Given the description of an element on the screen output the (x, y) to click on. 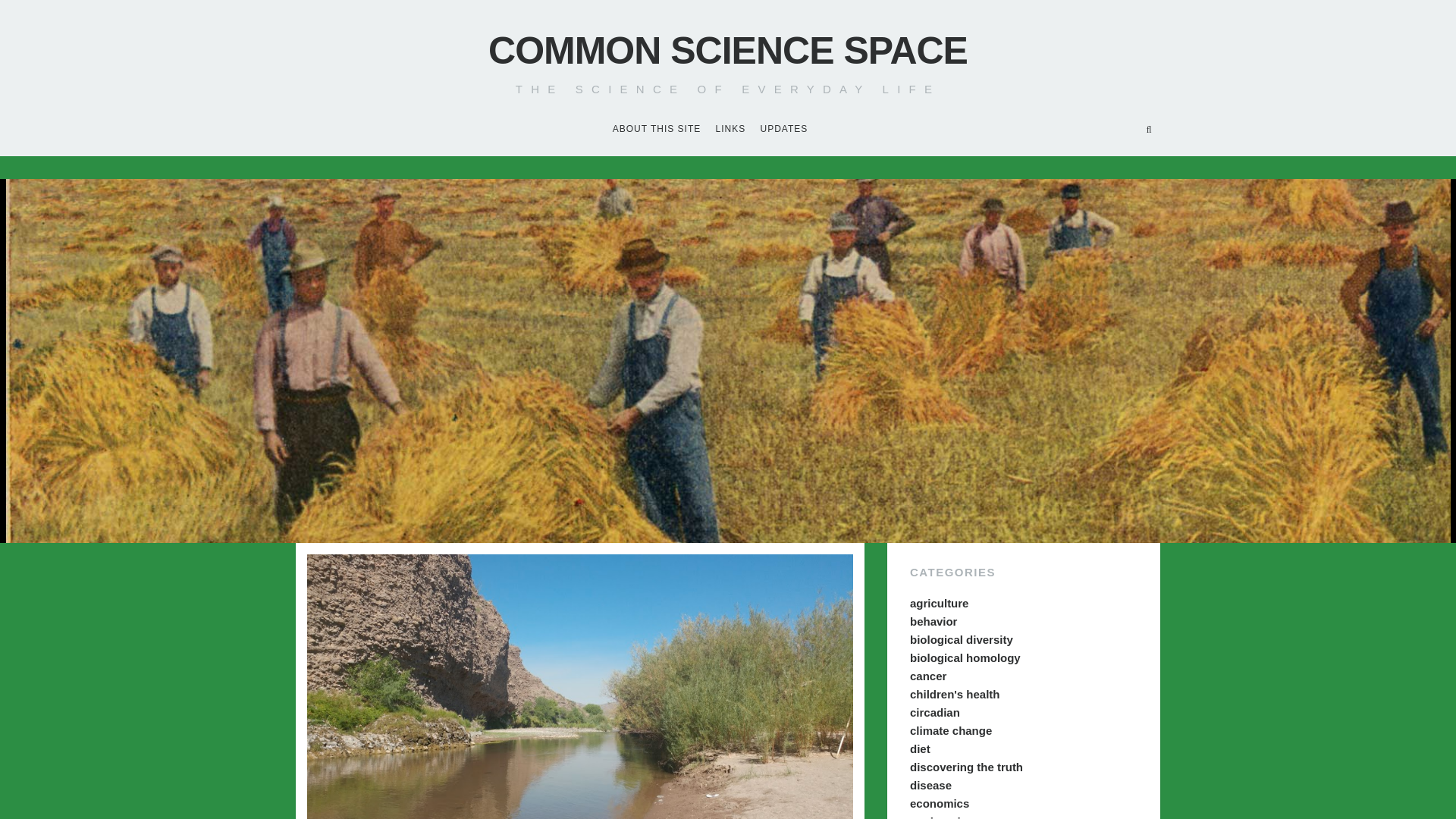
Common Science Space (727, 50)
SEARCH... (1147, 128)
COMMON SCIENCE SPACE (727, 50)
UPDATES (784, 129)
ABOUT THIS SITE (656, 129)
LINKS (730, 129)
